Given the description of an element on the screen output the (x, y) to click on. 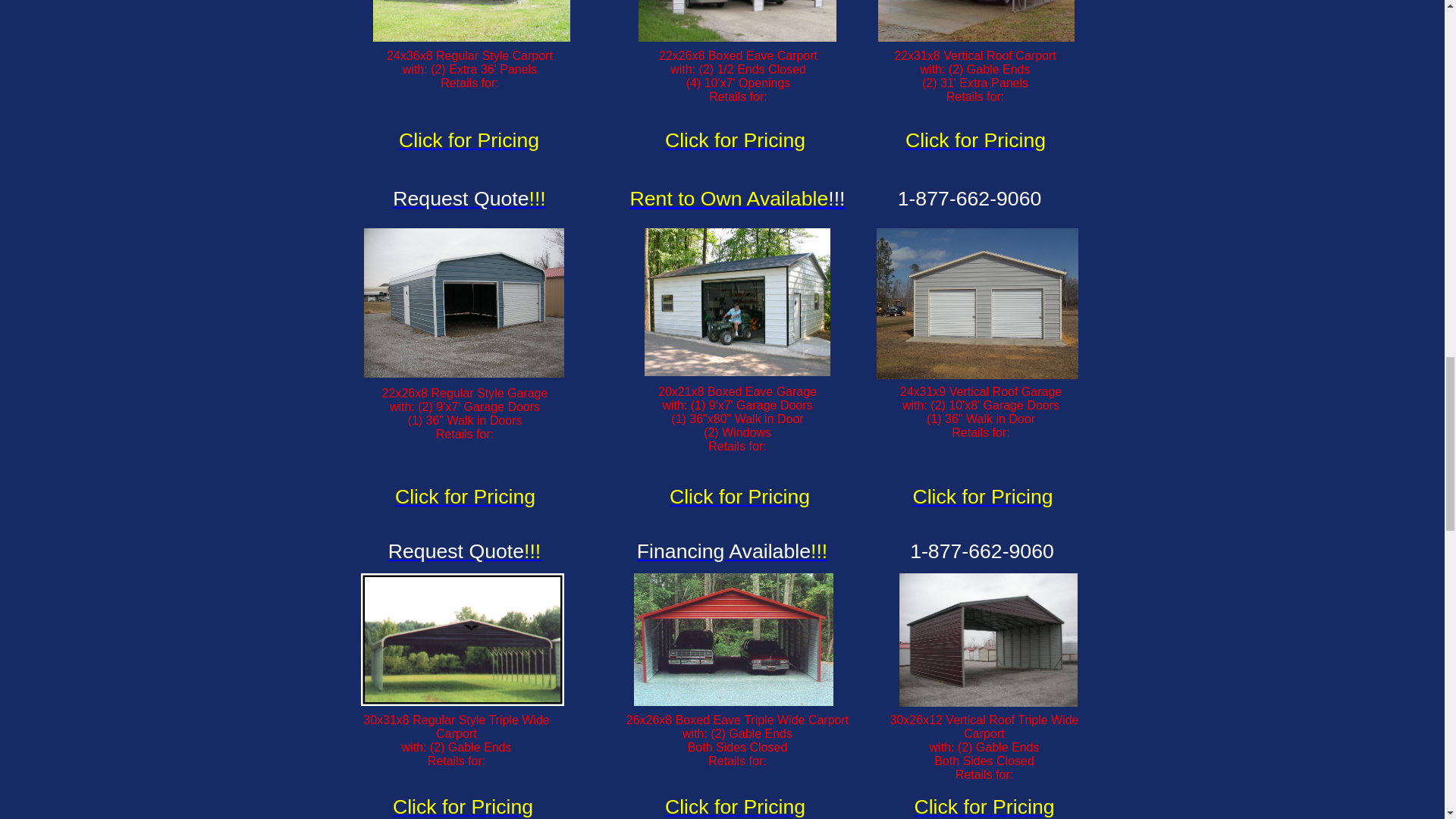
Click for Pricing (975, 139)
Click for Pricing (468, 139)
Request Quote!!! (469, 198)
Rent to Own Available!!! (736, 196)
Request Quote!!! (464, 550)
Click for Pricing (739, 496)
Click for Pricing (735, 139)
